Given the description of an element on the screen output the (x, y) to click on. 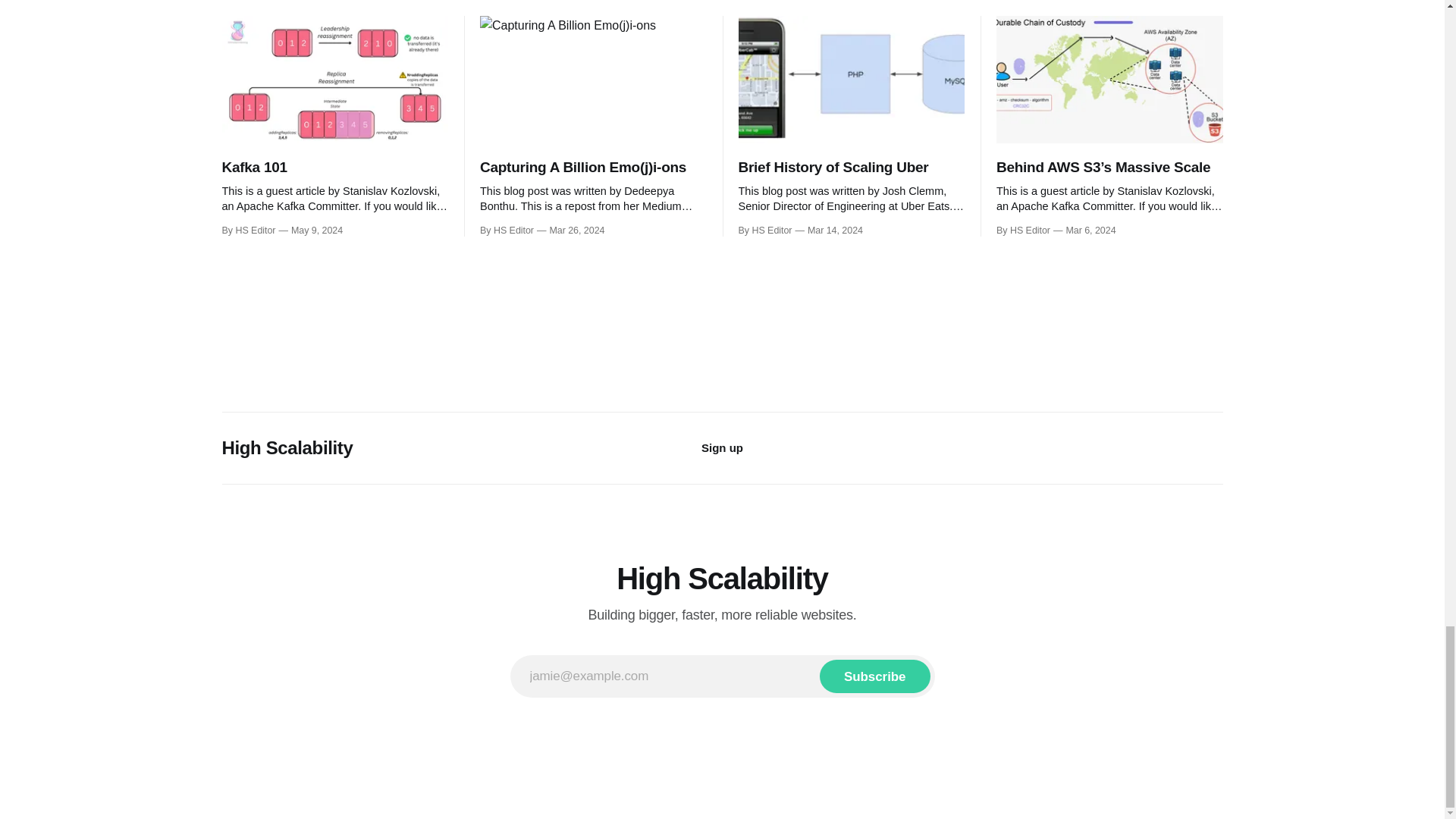
Subscribe (874, 676)
Sign up (721, 447)
